Given the description of an element on the screen output the (x, y) to click on. 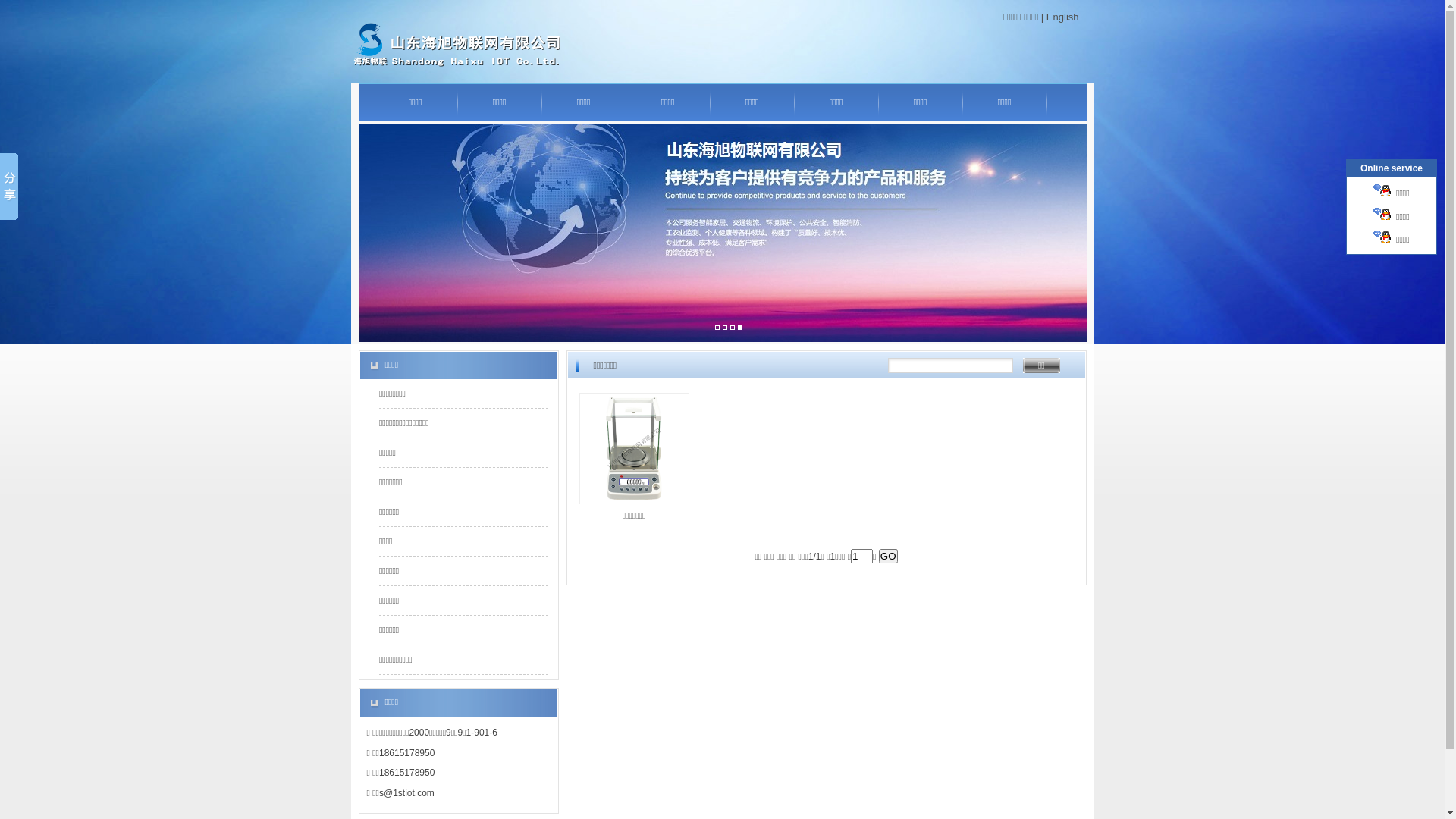
English Element type: text (1062, 16)
GO Element type: text (887, 556)
